Given the description of an element on the screen output the (x, y) to click on. 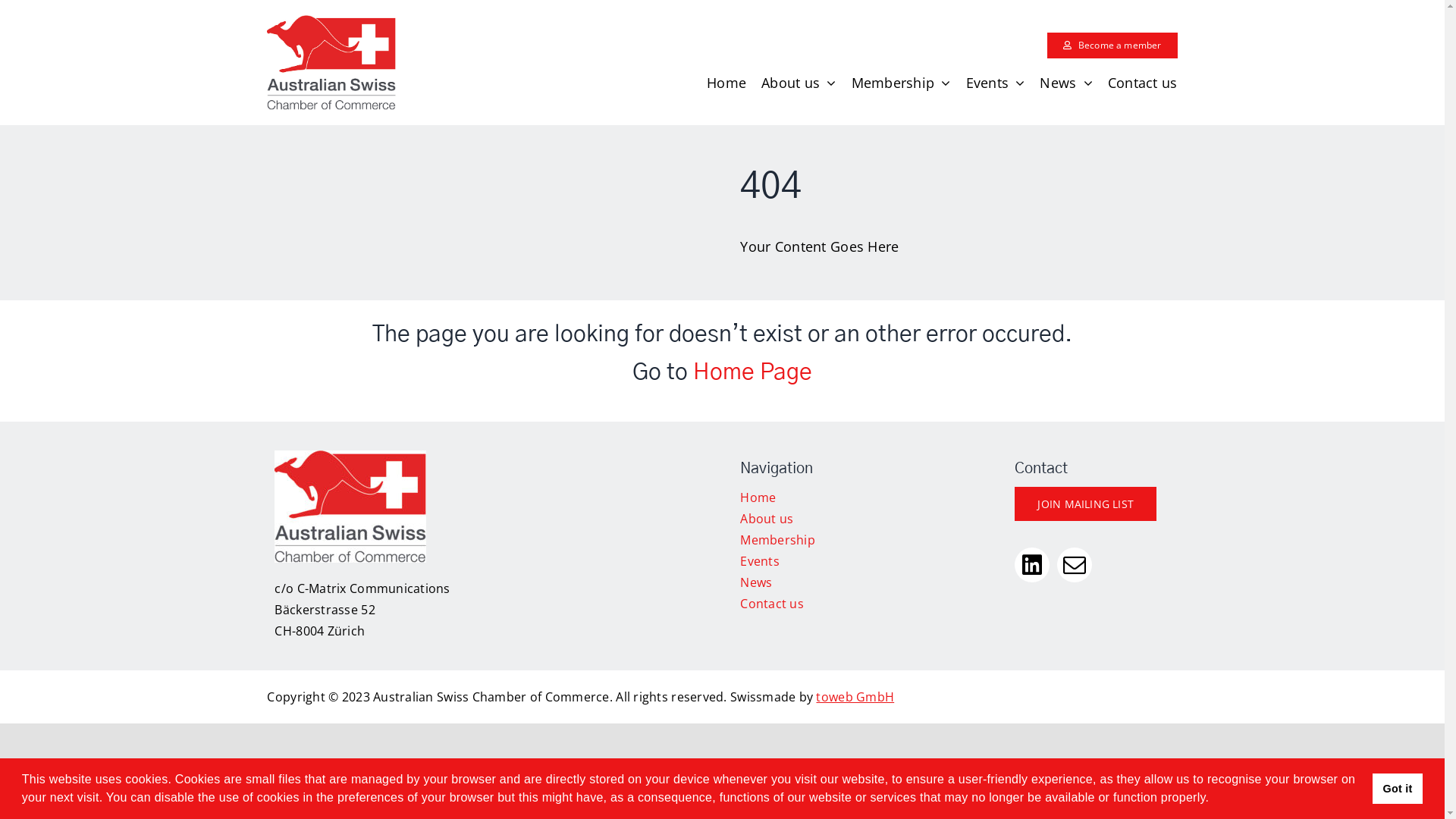
JOIN MAILING LIST Element type: text (1085, 503)
Home Page Element type: text (752, 371)
News Element type: text (755, 582)
Home Element type: text (757, 497)
Events Element type: text (995, 82)
News Element type: text (1065, 82)
About us Element type: text (766, 518)
Membership Element type: text (900, 82)
Got it Element type: text (1397, 788)
Home Element type: text (726, 82)
Membership Element type: text (777, 539)
About us Element type: text (798, 82)
Contact us Element type: text (771, 603)
Contact us Element type: text (1142, 82)
Events Element type: text (759, 560)
Become a member Element type: text (1111, 45)
toweb GmbH Element type: text (854, 696)
